Given the description of an element on the screen output the (x, y) to click on. 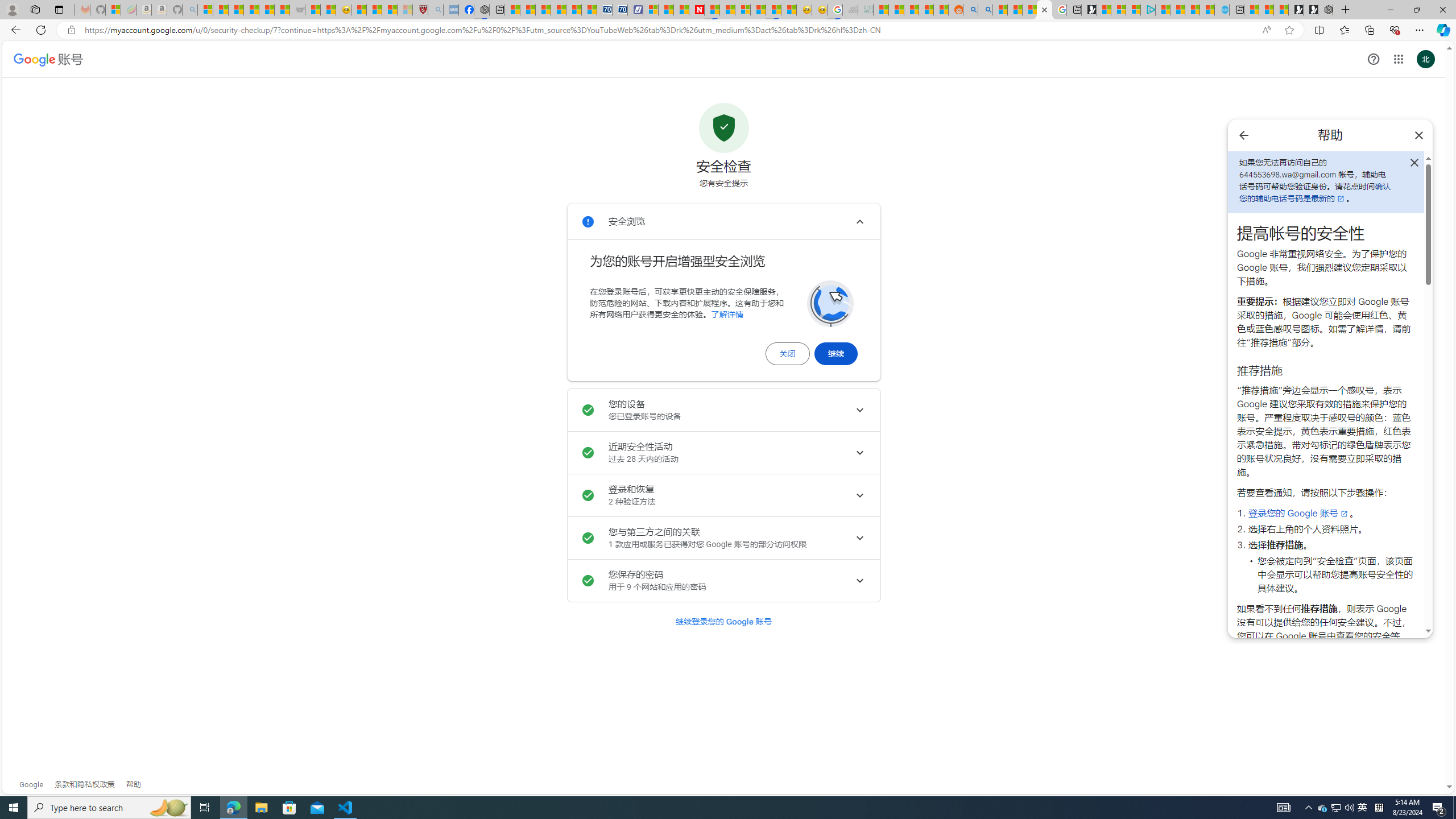
Robert H. Shmerling, MD - Harvard Health (419, 9)
